Given the description of an element on the screen output the (x, y) to click on. 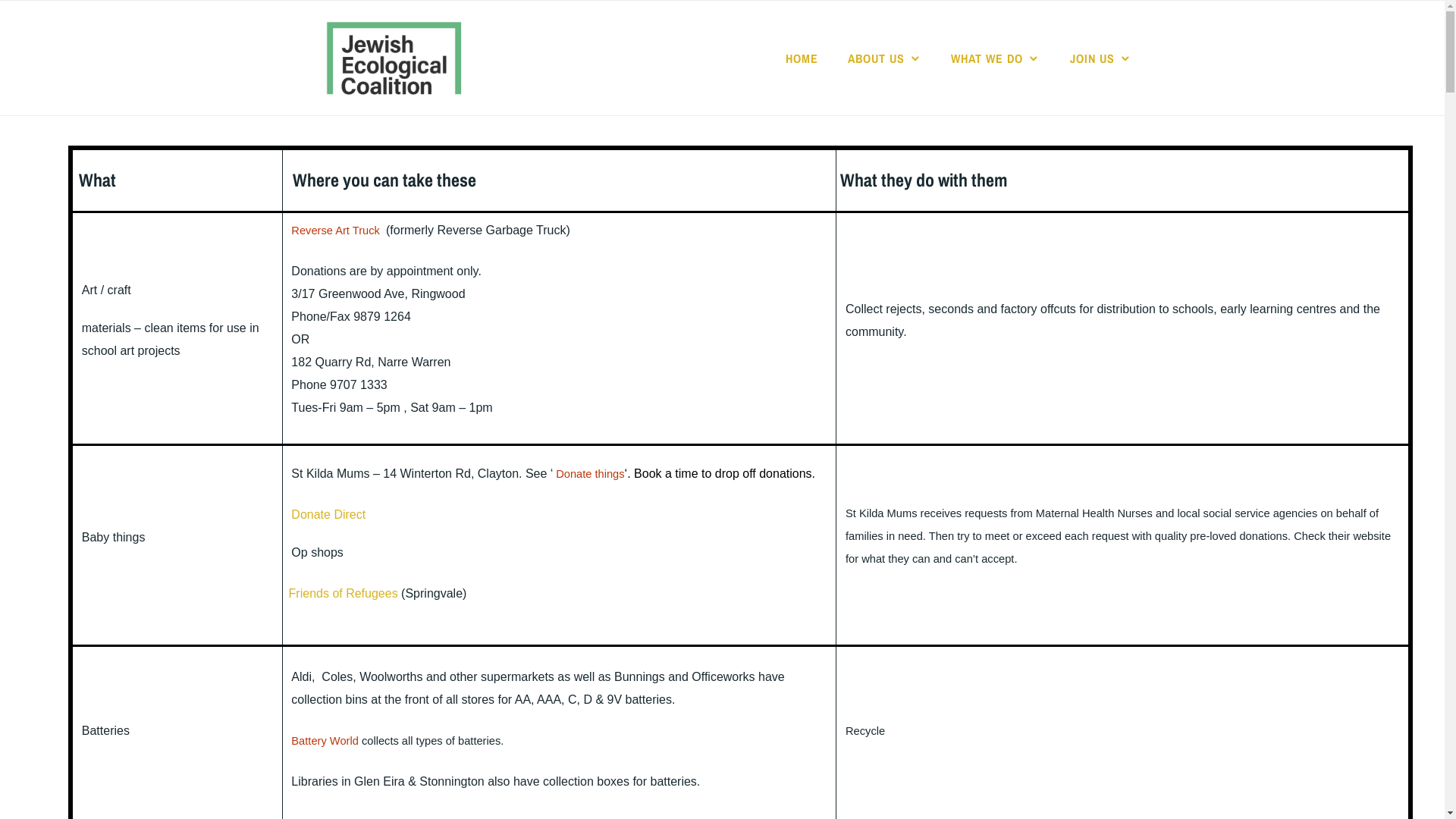
HOME Element type: text (801, 58)
Battery World Element type: text (324, 740)
JEWISH ECOLOGICAL COALITION Element type: text (787, 81)
ABOUT US Element type: text (884, 58)
Donate things Element type: text (589, 473)
JOIN US Element type: text (1101, 58)
Donate Direct Element type: text (328, 514)
Reverse Art Truck Element type: text (335, 229)
Friends of Refugees Element type: text (343, 592)
WHAT WE DO Element type: text (995, 58)
